Given the description of an element on the screen output the (x, y) to click on. 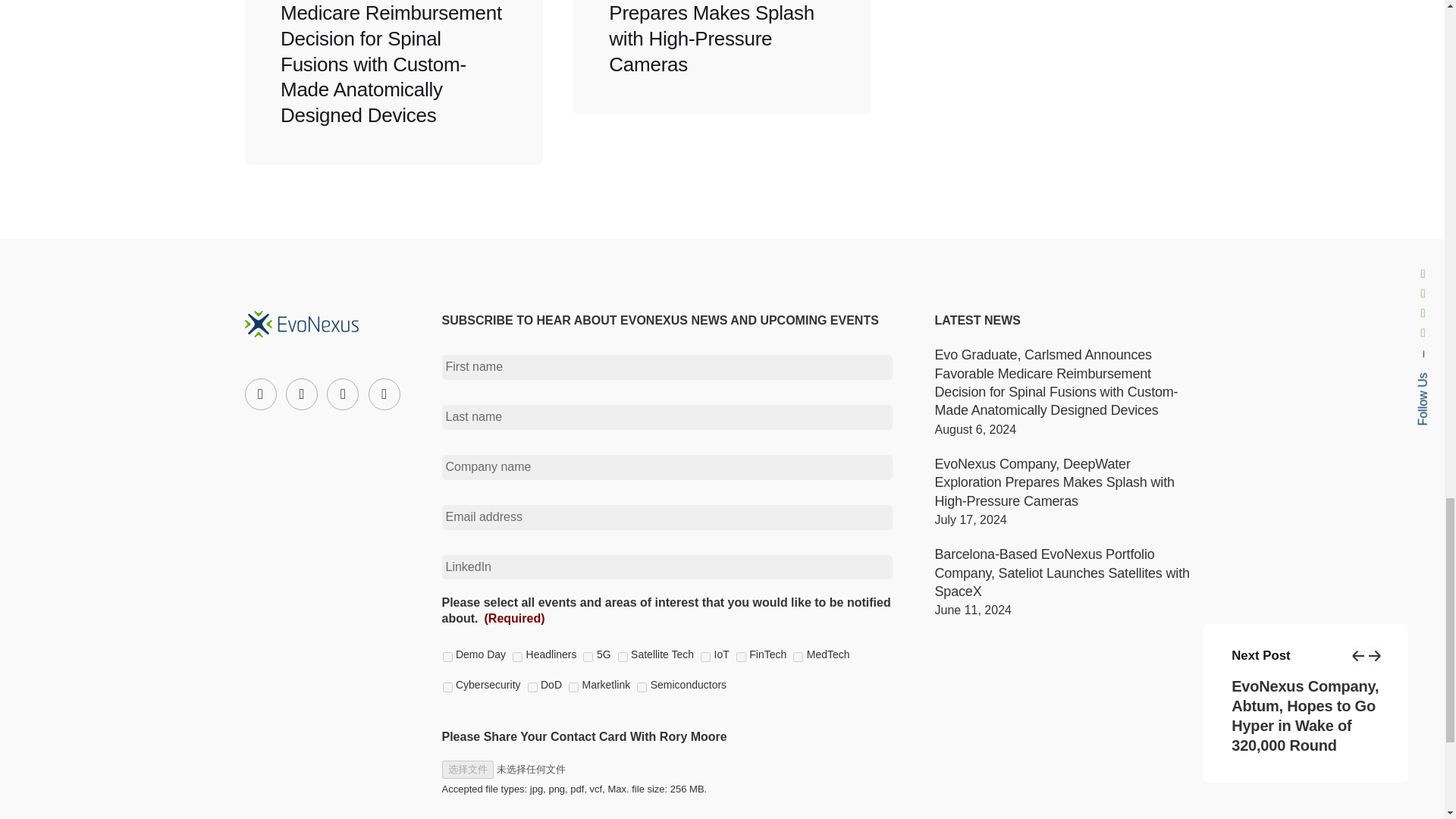
MedTech (798, 656)
Headliners (517, 656)
Demo Day (447, 656)
Marketlink (573, 687)
IoT (705, 656)
DoD (532, 687)
5G (587, 656)
Cybersecurity (447, 687)
FinTech (740, 656)
Satellite Tech (622, 656)
